Given the description of an element on the screen output the (x, y) to click on. 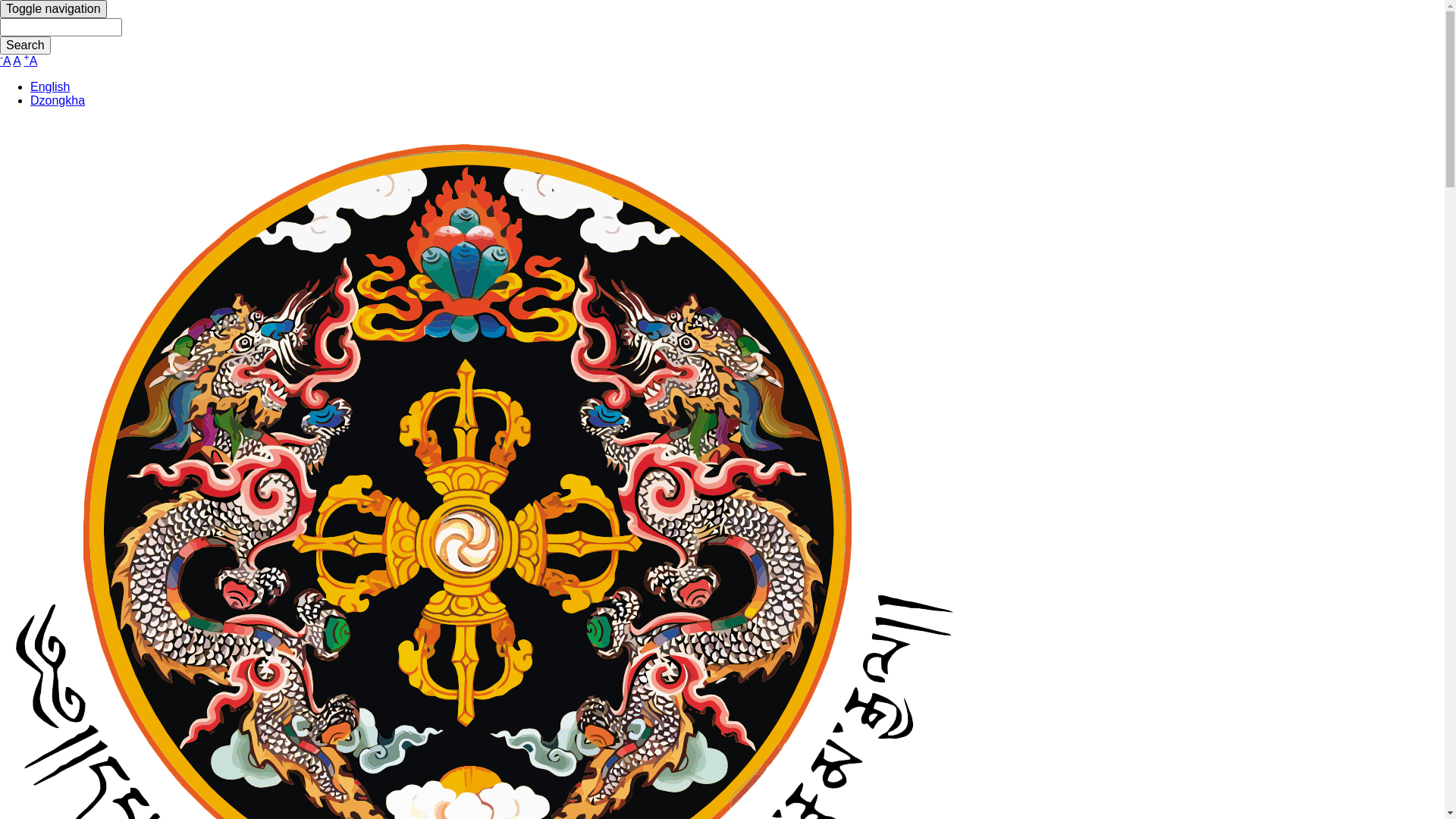
+A Element type: text (30, 60)
Dzongkha Element type: text (57, 100)
Toggle navigation Element type: text (53, 9)
Skip to main content Element type: text (0, 0)
A Element type: text (16, 60)
English Element type: text (49, 86)
Enter the terms you wish to search for. Element type: hover (61, 27)
-A Element type: text (5, 60)
Search Element type: text (25, 45)
